Given the description of an element on the screen output the (x, y) to click on. 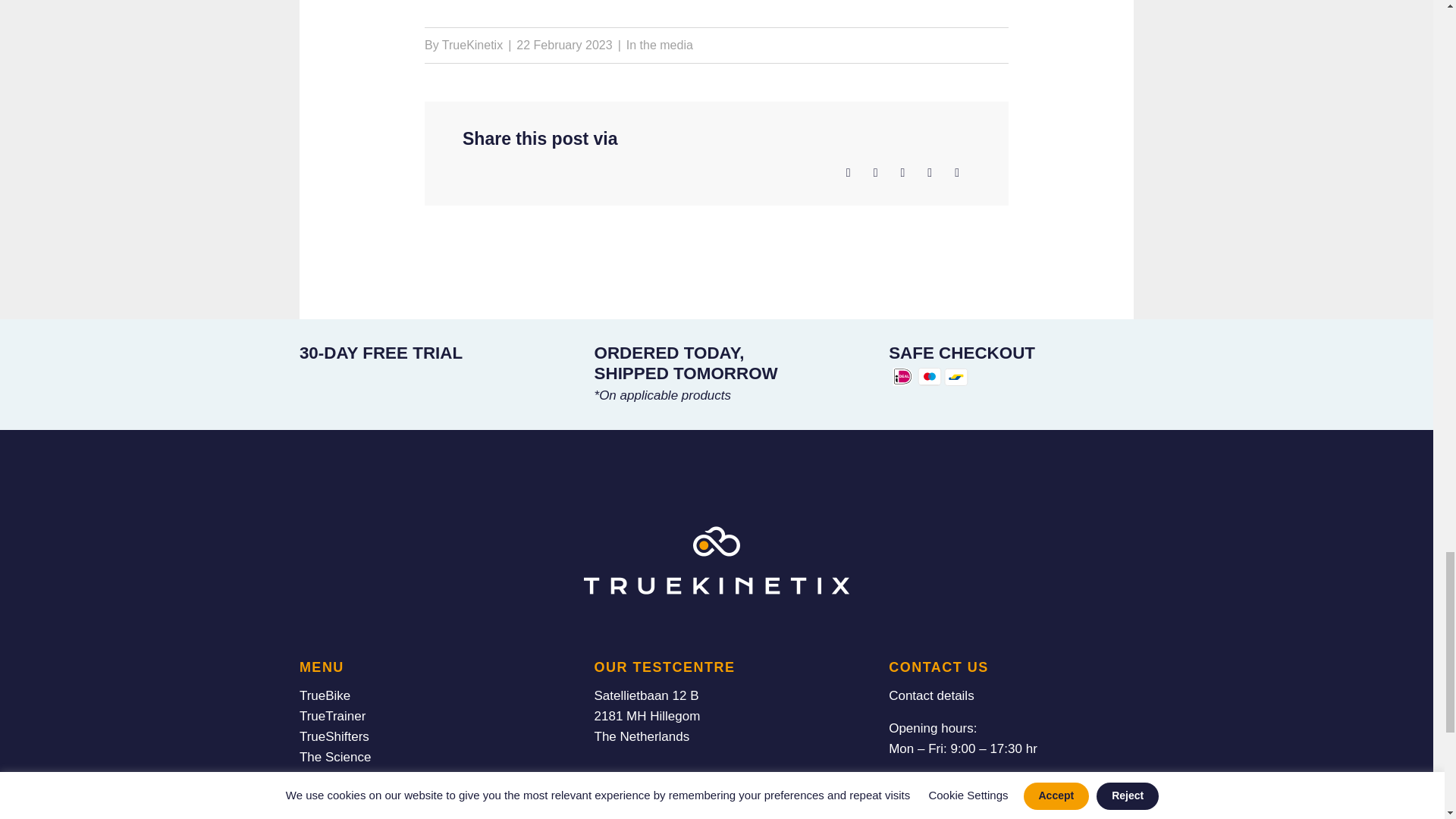
Posts by TrueKinetix (472, 44)
